Given the description of an element on the screen output the (x, y) to click on. 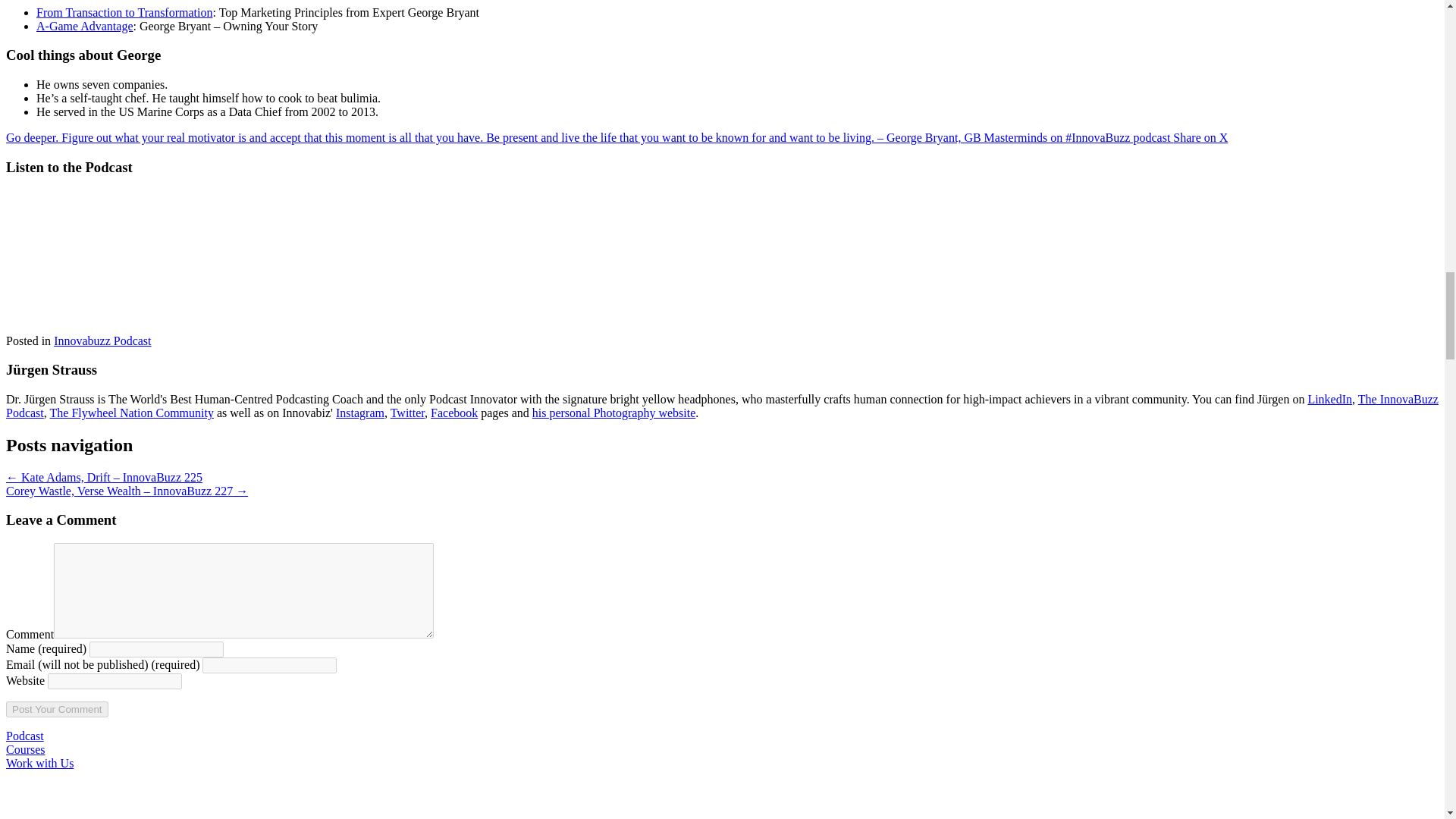
Podcast (24, 735)
Instagram (360, 412)
Share on X (1200, 137)
Post Your Comment (56, 709)
The Flywheel Nation Community (131, 412)
Innovabuzz Podcast (102, 339)
A-Game Advantage (84, 25)
Work with Us (39, 762)
Courses (25, 748)
his personal Photography website (613, 412)
LinkedIn (1329, 399)
From Transaction to Transformation (124, 11)
Post Your Comment (56, 709)
Twitter (407, 412)
Facebook (453, 412)
